Given the description of an element on the screen output the (x, y) to click on. 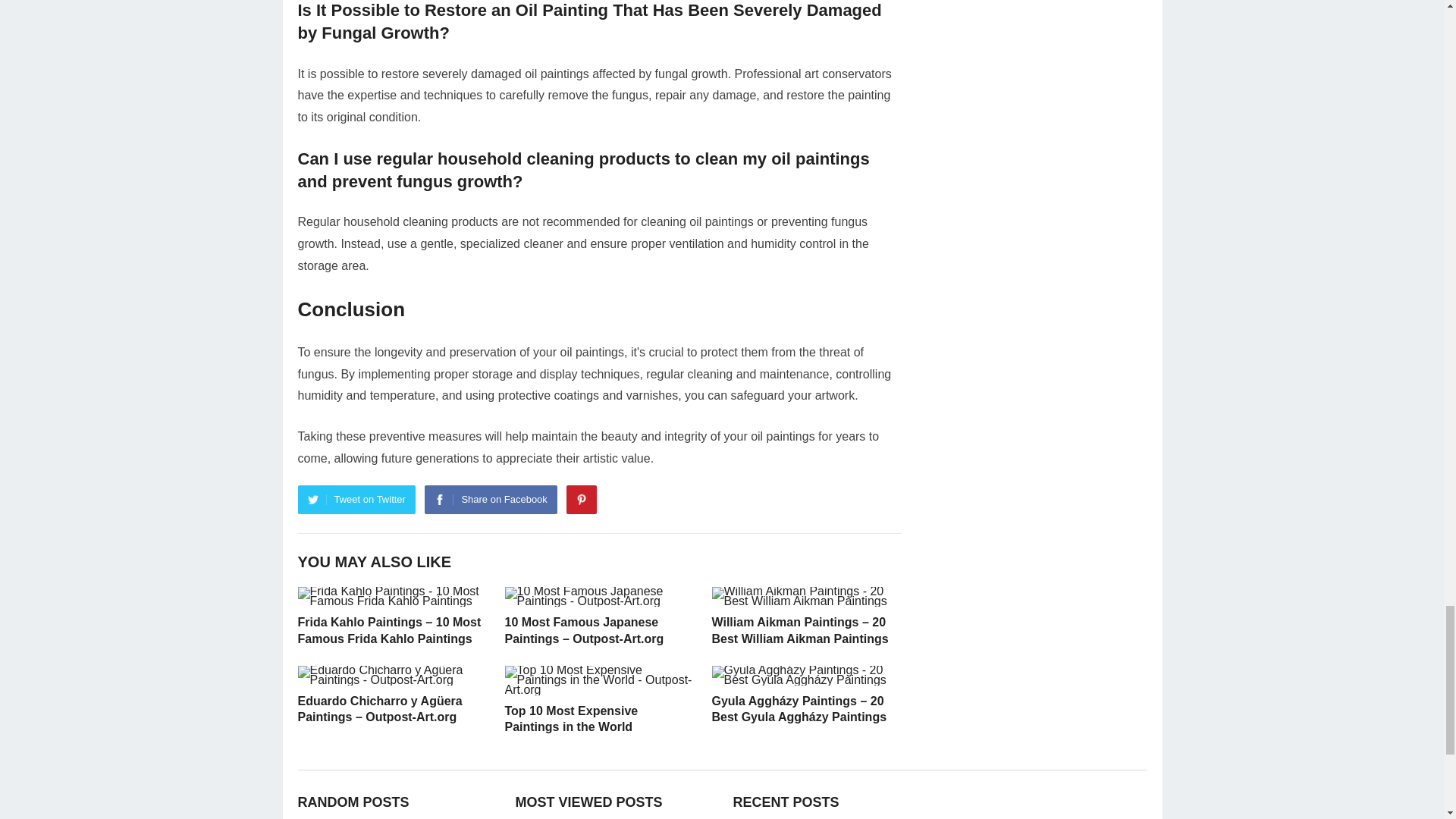
10 Most Famous Japanese Paintings - Outpost-Art.org 4 (599, 596)
Top 10 Most Expensive Paintings in the World 10 (599, 679)
